Given the description of an element on the screen output the (x, y) to click on. 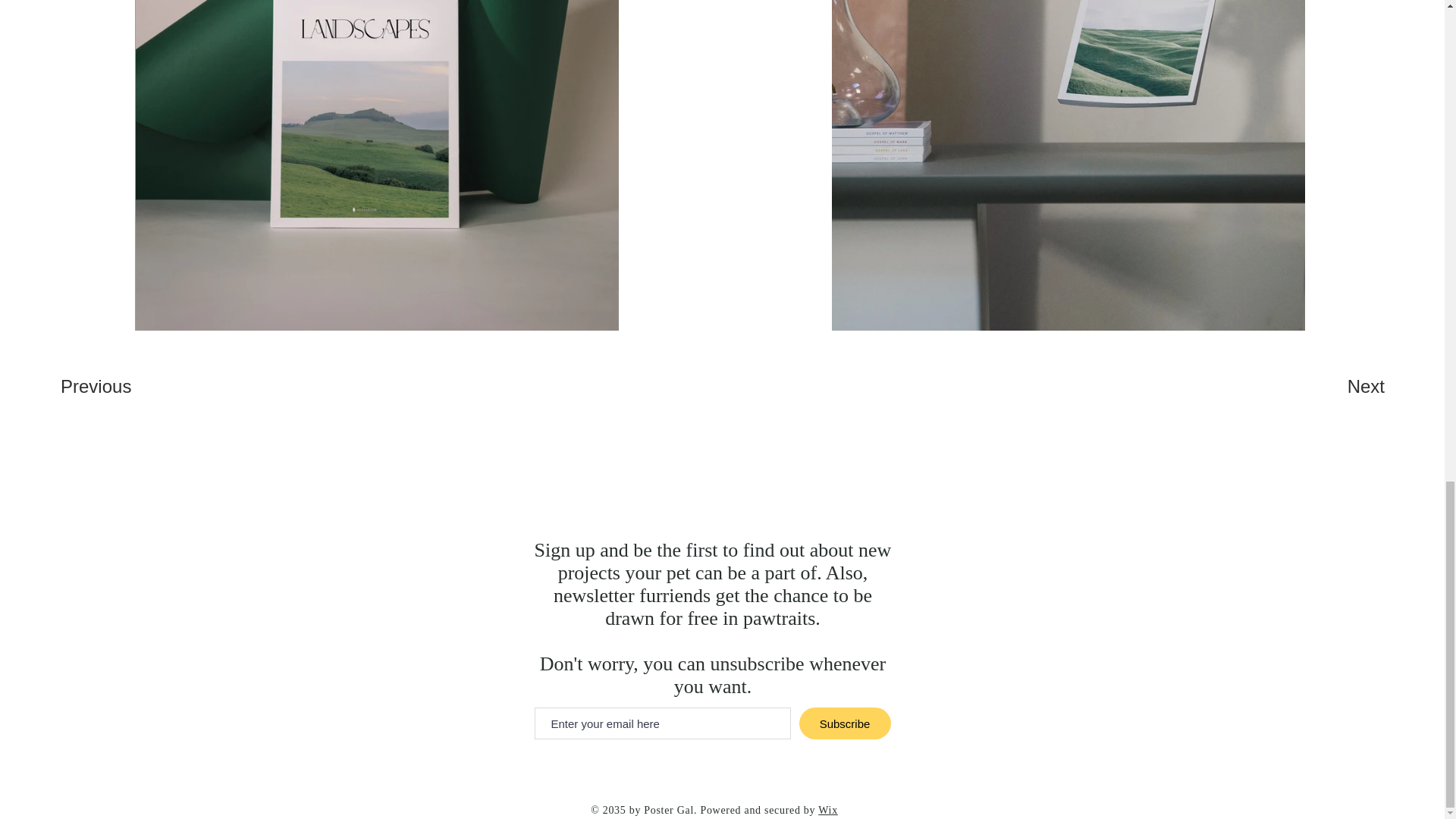
Previous (114, 386)
Next (1334, 386)
Wix (828, 809)
Subscribe (845, 723)
